Given the description of an element on the screen output the (x, y) to click on. 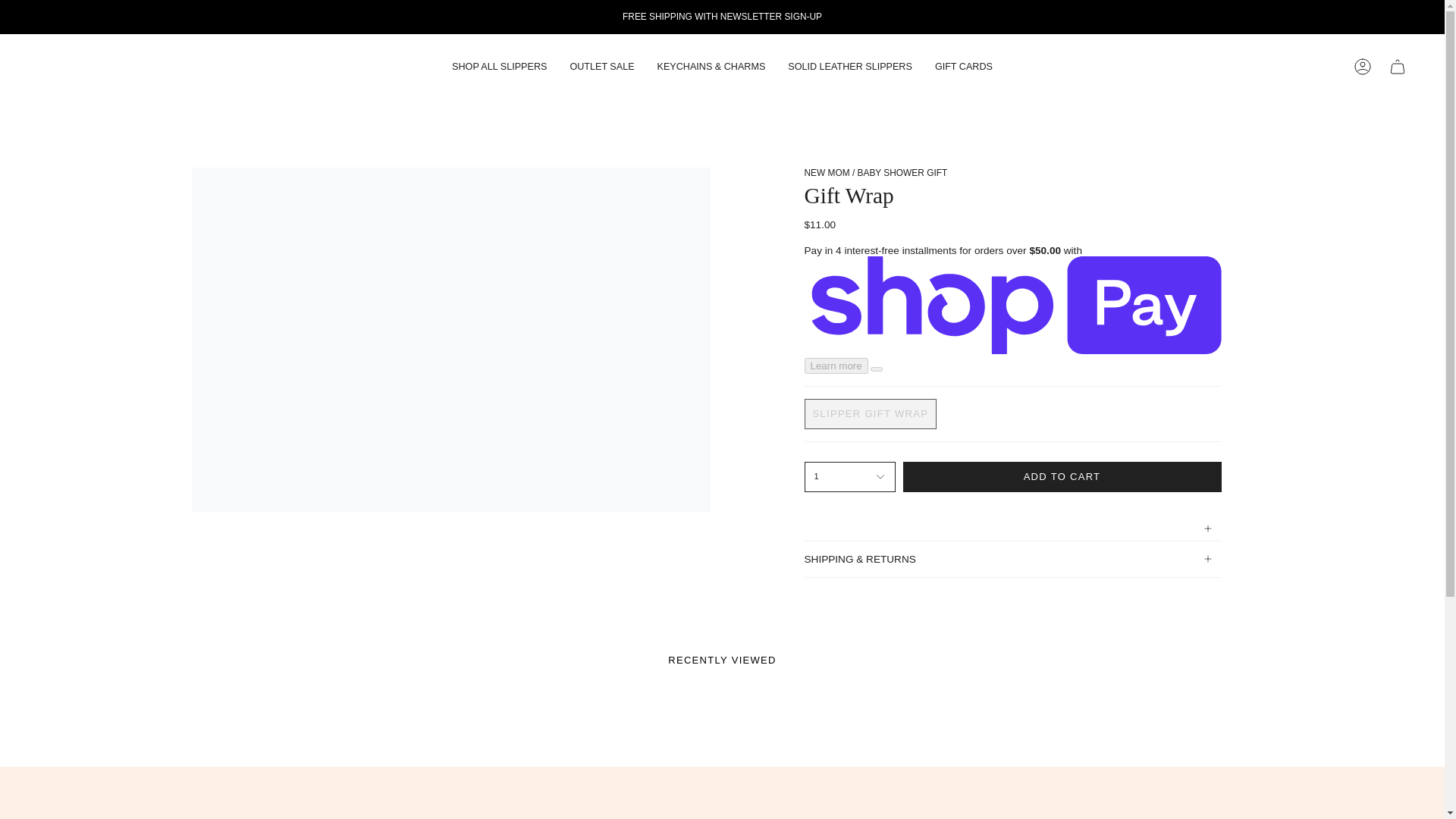
GIFT CARDS (963, 66)
SOLID LEATHER SLIPPERS (849, 66)
SHOP ALL SLIPPERS (499, 66)
OUTLET SALE (601, 66)
